Given the description of an element on the screen output the (x, y) to click on. 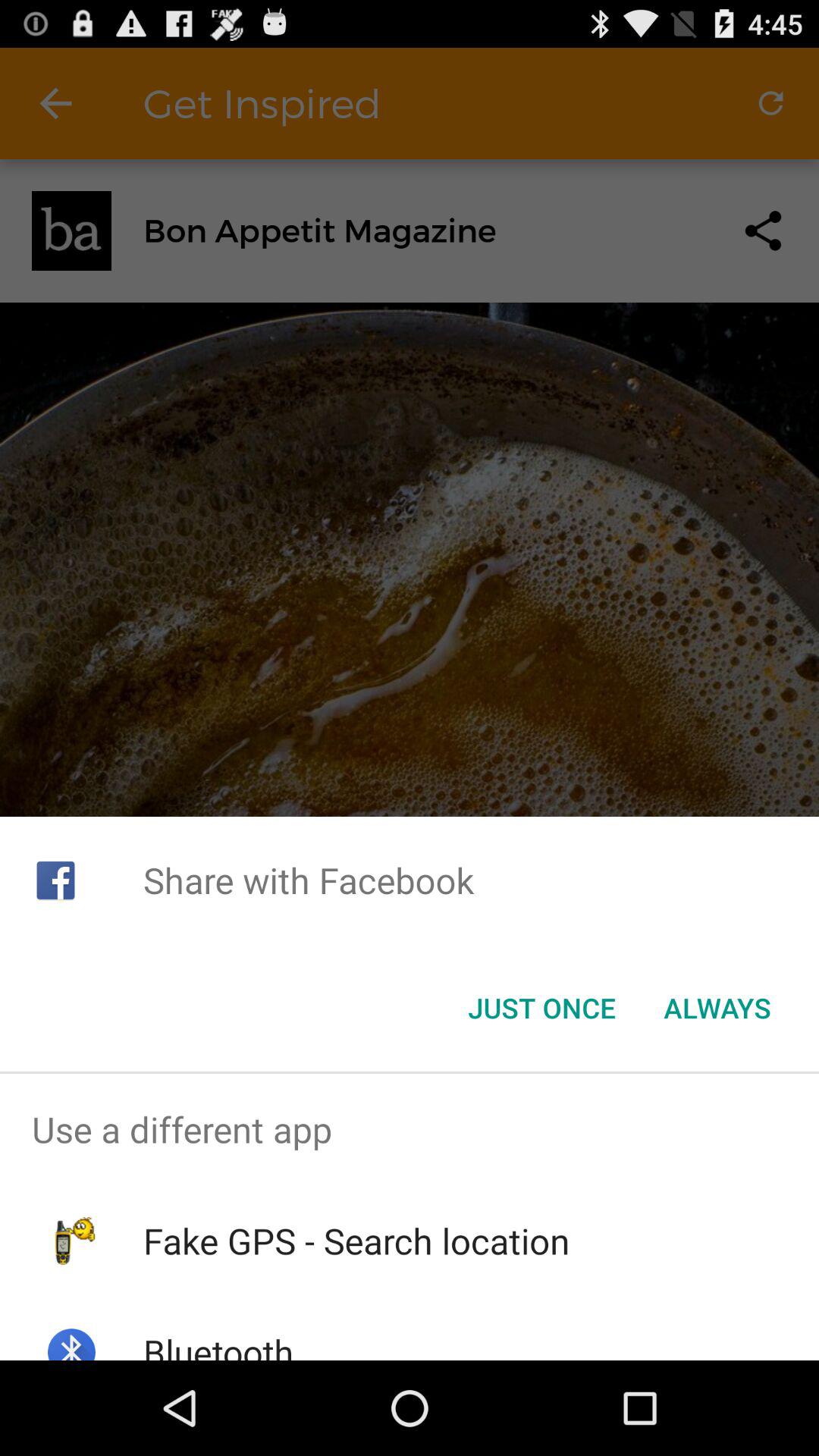
click item above the fake gps search item (409, 1129)
